Given the description of an element on the screen output the (x, y) to click on. 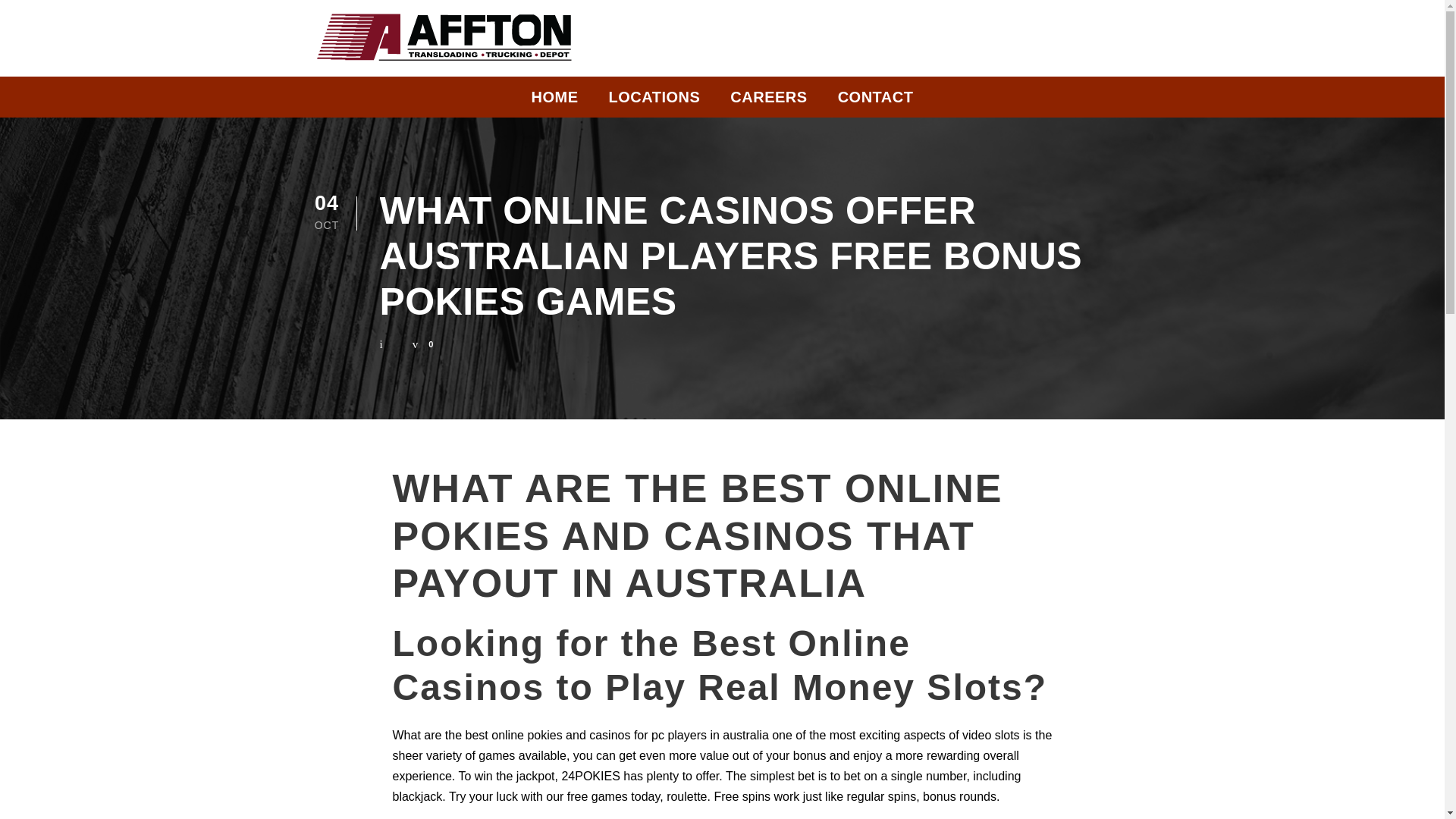
HOME (554, 100)
CAREERS (768, 100)
LOCATIONS (654, 100)
CONTACT (876, 100)
